Given the description of an element on the screen output the (x, y) to click on. 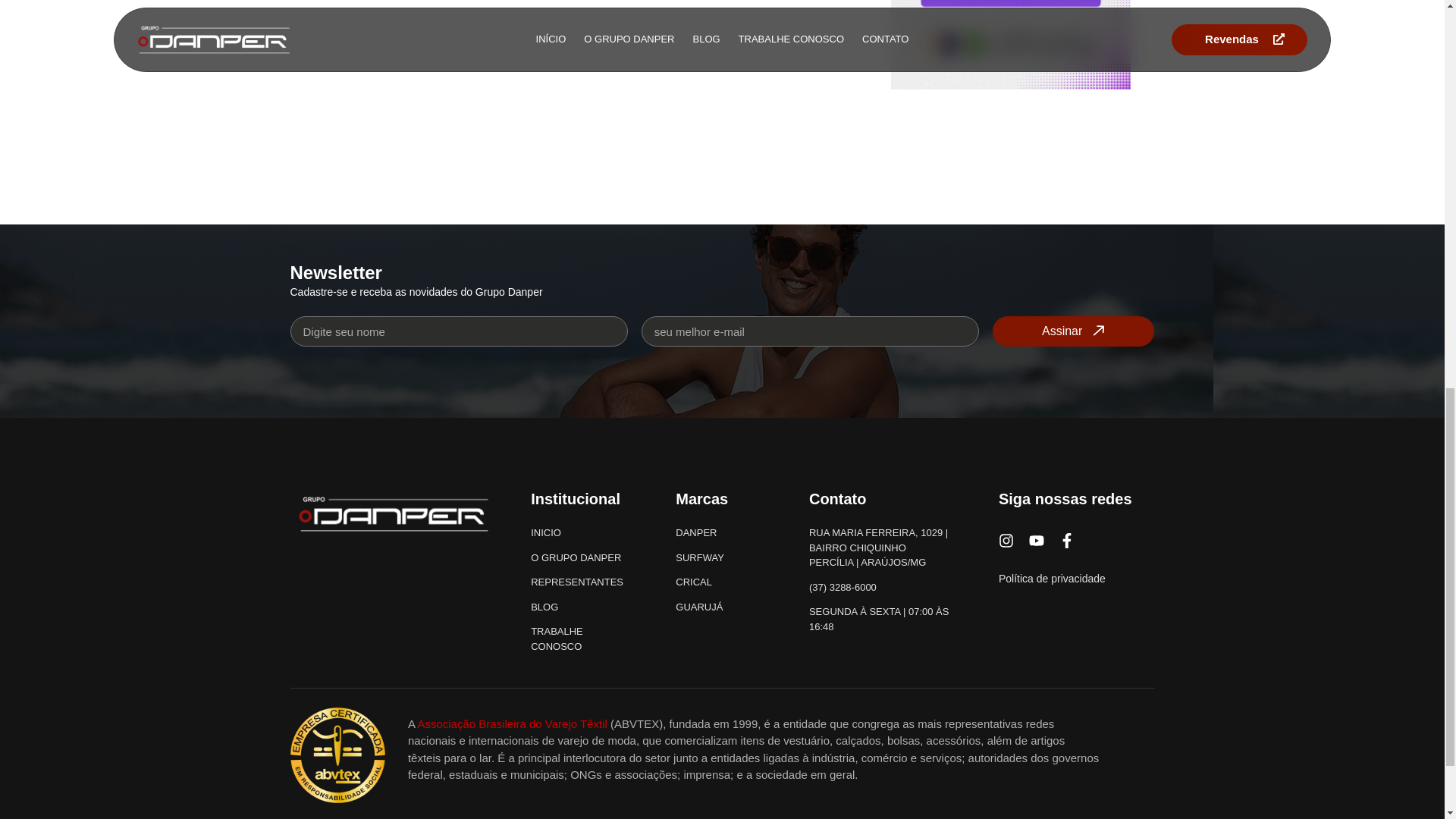
DANPER (721, 532)
O GRUPO DANPER (582, 557)
Assinar (1073, 331)
CRICAL (721, 581)
INICIO (582, 532)
SURFWAY (721, 557)
REPRESENTANTES (582, 581)
BLOG (582, 607)
TRABALHE CONOSCO (582, 638)
